Given the description of an element on the screen output the (x, y) to click on. 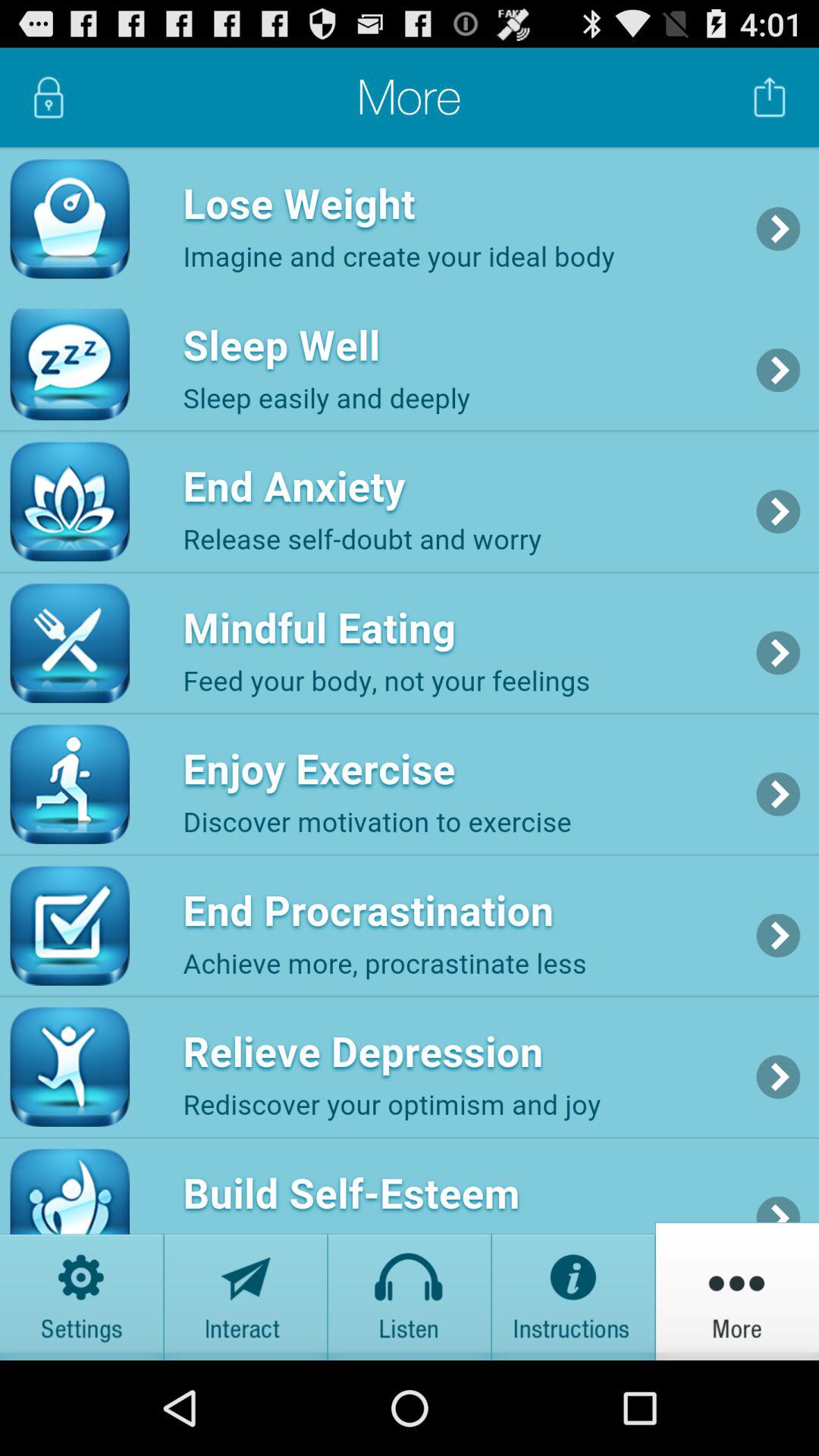
interact (245, 1290)
